Given the description of an element on the screen output the (x, y) to click on. 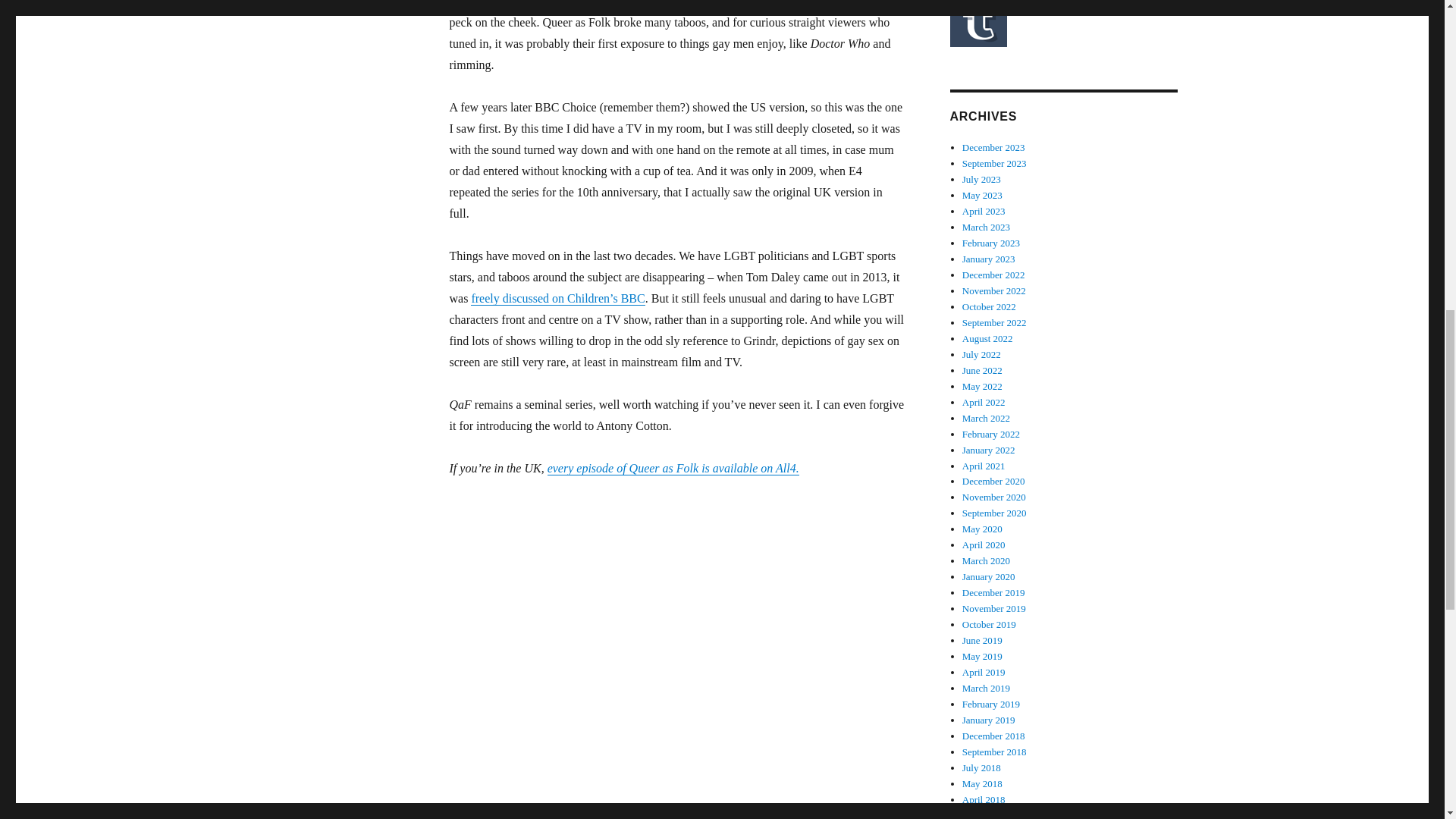
December 2023 (993, 147)
August 2022 (987, 337)
November 2022 (994, 290)
March 2022 (986, 418)
May 2023 (982, 194)
July 2023 (981, 179)
September 2023 (994, 163)
every episode of Queer as Folk is available on All4. (673, 468)
April 2023 (984, 211)
June 2022 (982, 369)
